Given the description of an element on the screen output the (x, y) to click on. 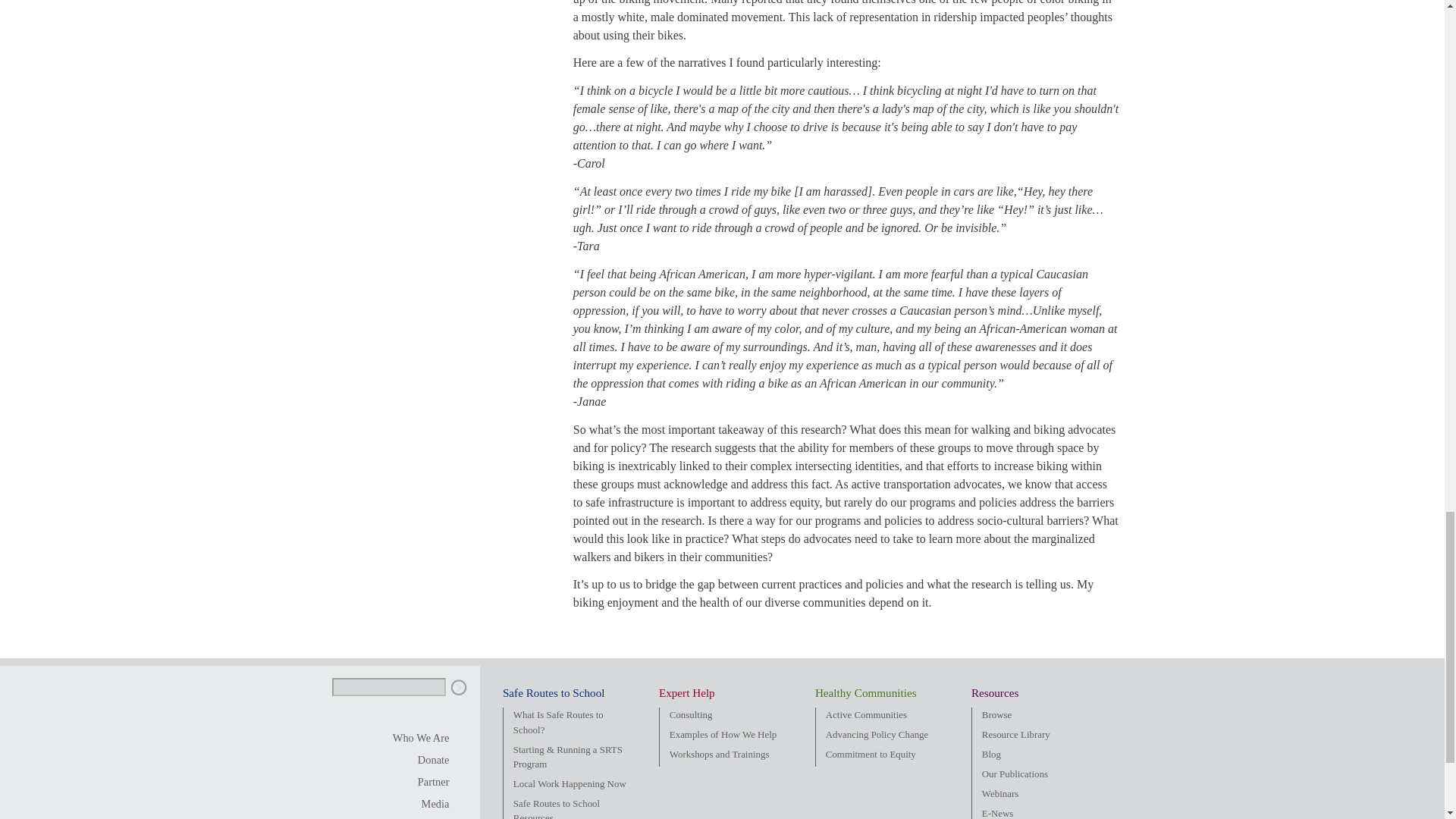
Media (421, 804)
Enter the terms you wish to search for. (388, 687)
Search (458, 687)
Search (458, 687)
Join (421, 782)
